Given the description of an element on the screen output the (x, y) to click on. 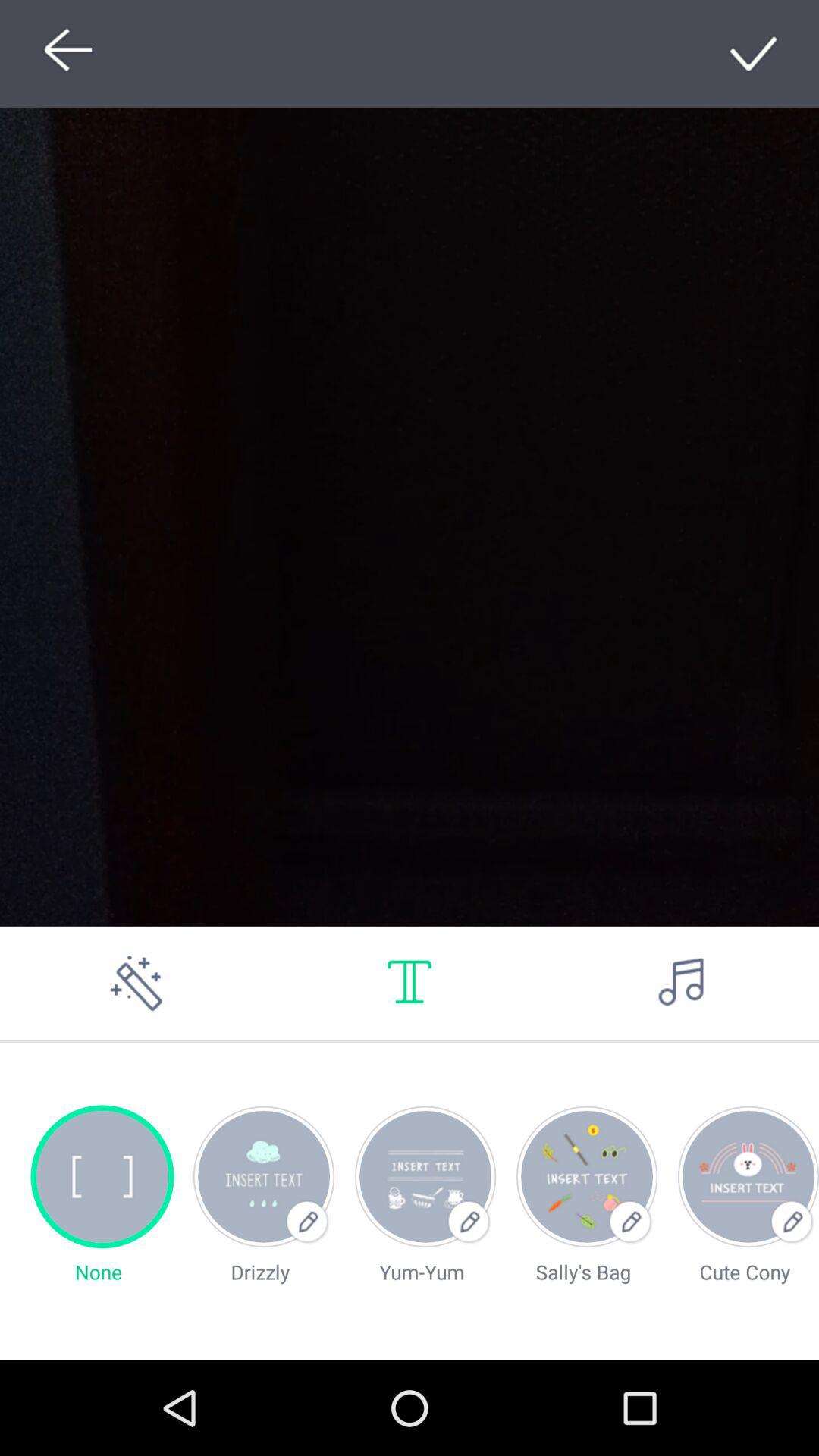
music options (682, 983)
